Given the description of an element on the screen output the (x, y) to click on. 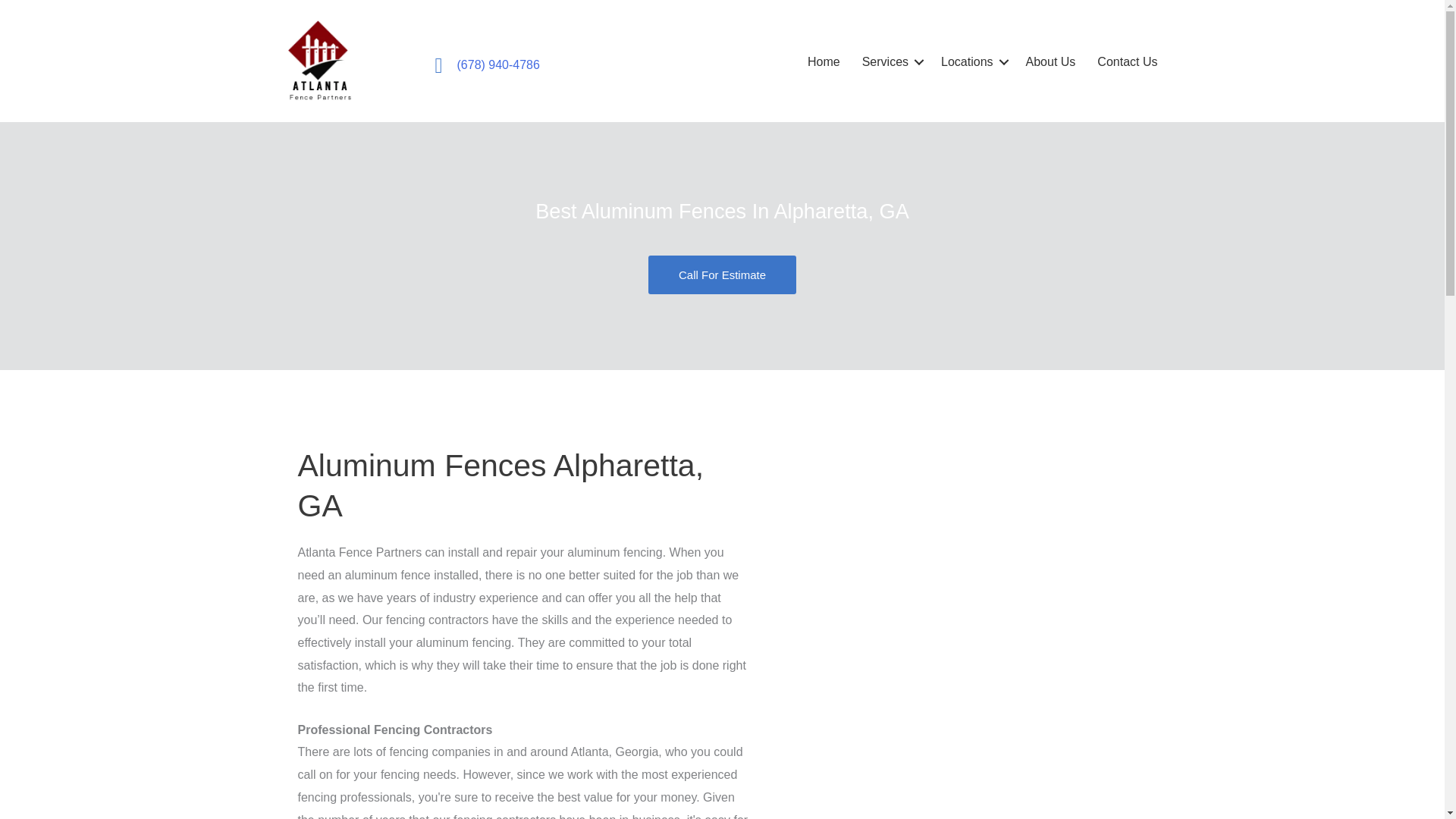
Call For Estimate (721, 274)
fence aluminum (958, 639)
Click Here (721, 274)
Locations (972, 61)
Home (823, 61)
Contact Us (1126, 61)
Services (890, 61)
About Us (1050, 61)
